Given the description of an element on the screen output the (x, y) to click on. 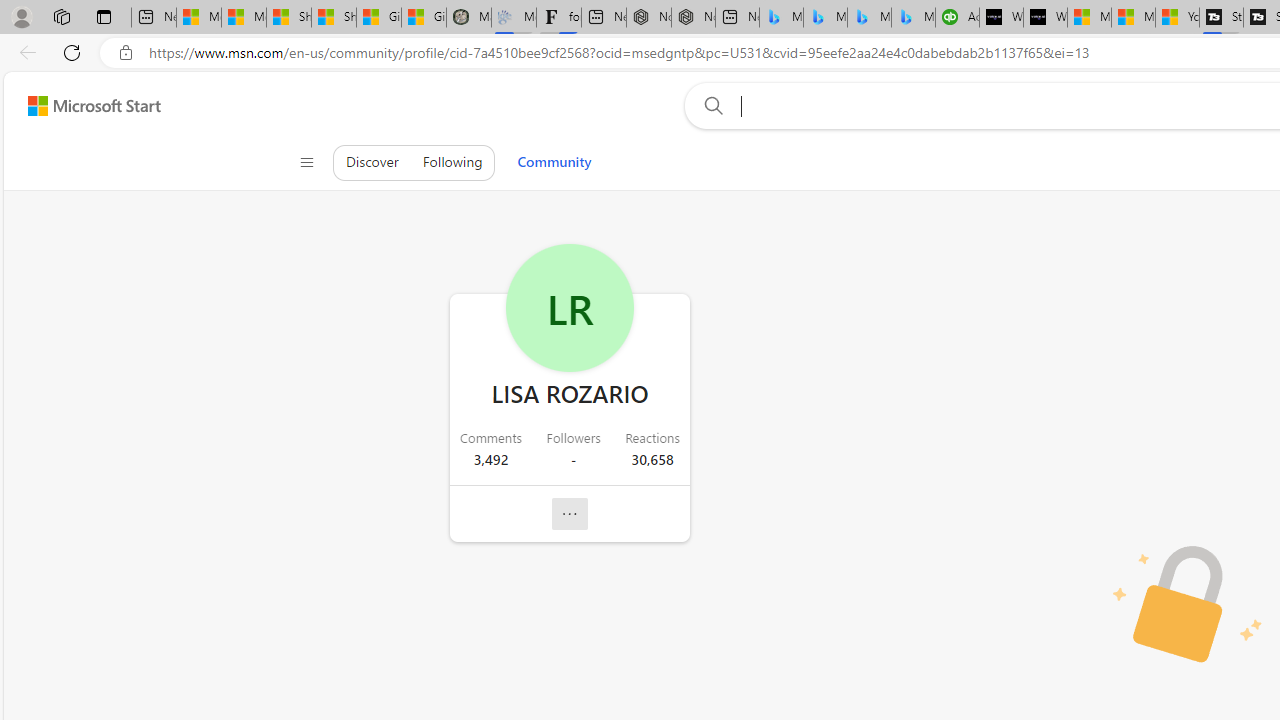
Skip to content (86, 105)
Manatee Mortality Statistics | FWC (468, 17)
Microsoft Start Sports (1089, 17)
Skip to footer (82, 105)
